Given the description of an element on the screen output the (x, y) to click on. 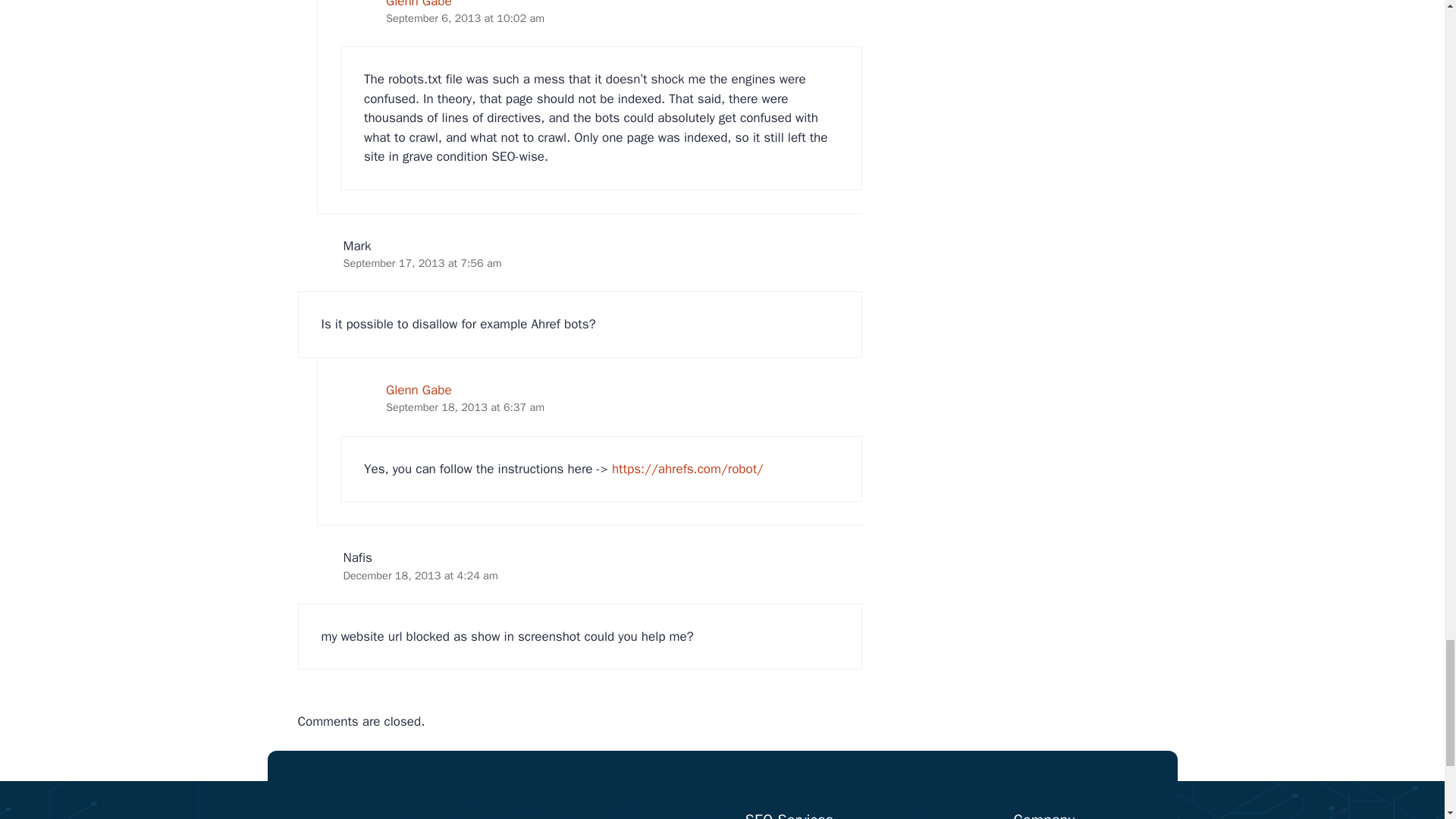
September 18, 2013 at 6:37 am (464, 407)
Glenn Gabe (418, 390)
September 6, 2013 at 10:02 am (464, 18)
September 17, 2013 at 7:56 am (421, 263)
Glenn Gabe (418, 4)
